Given the description of an element on the screen output the (x, y) to click on. 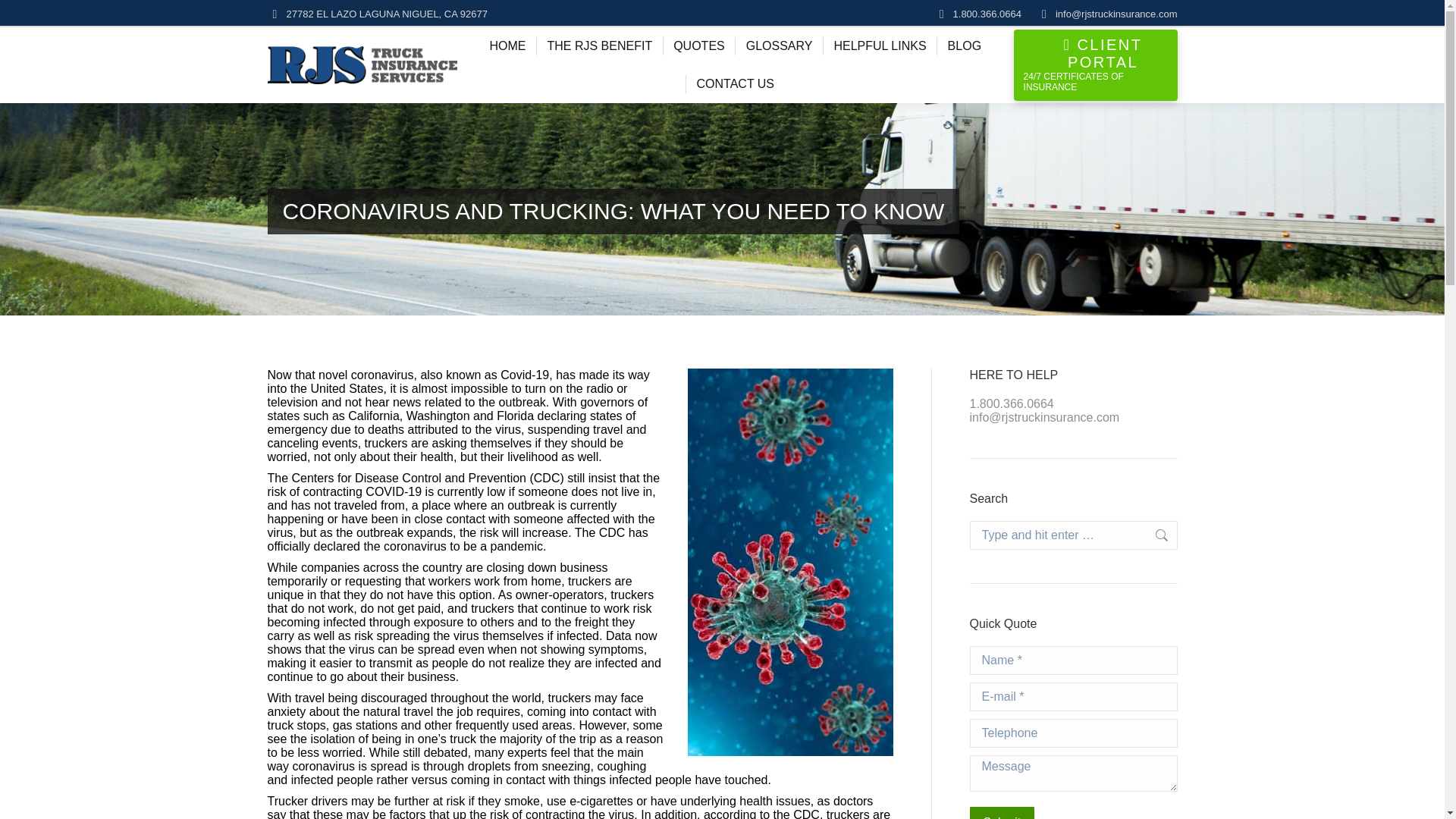
CONTACT US (735, 83)
GLOSSARY (779, 45)
HOME (507, 45)
QUOTES (698, 45)
27782 EL LAZO LAGUNA NIGUEL, CA 92677 (386, 12)
Go! (1153, 534)
BLOG (964, 45)
CLIENT PORTAL (1098, 53)
1.800.366.0664 (987, 12)
HELPFUL LINKS (879, 45)
Go! (1153, 534)
THE RJS BENEFIT (598, 45)
submit (1075, 812)
